Given the description of an element on the screen output the (x, y) to click on. 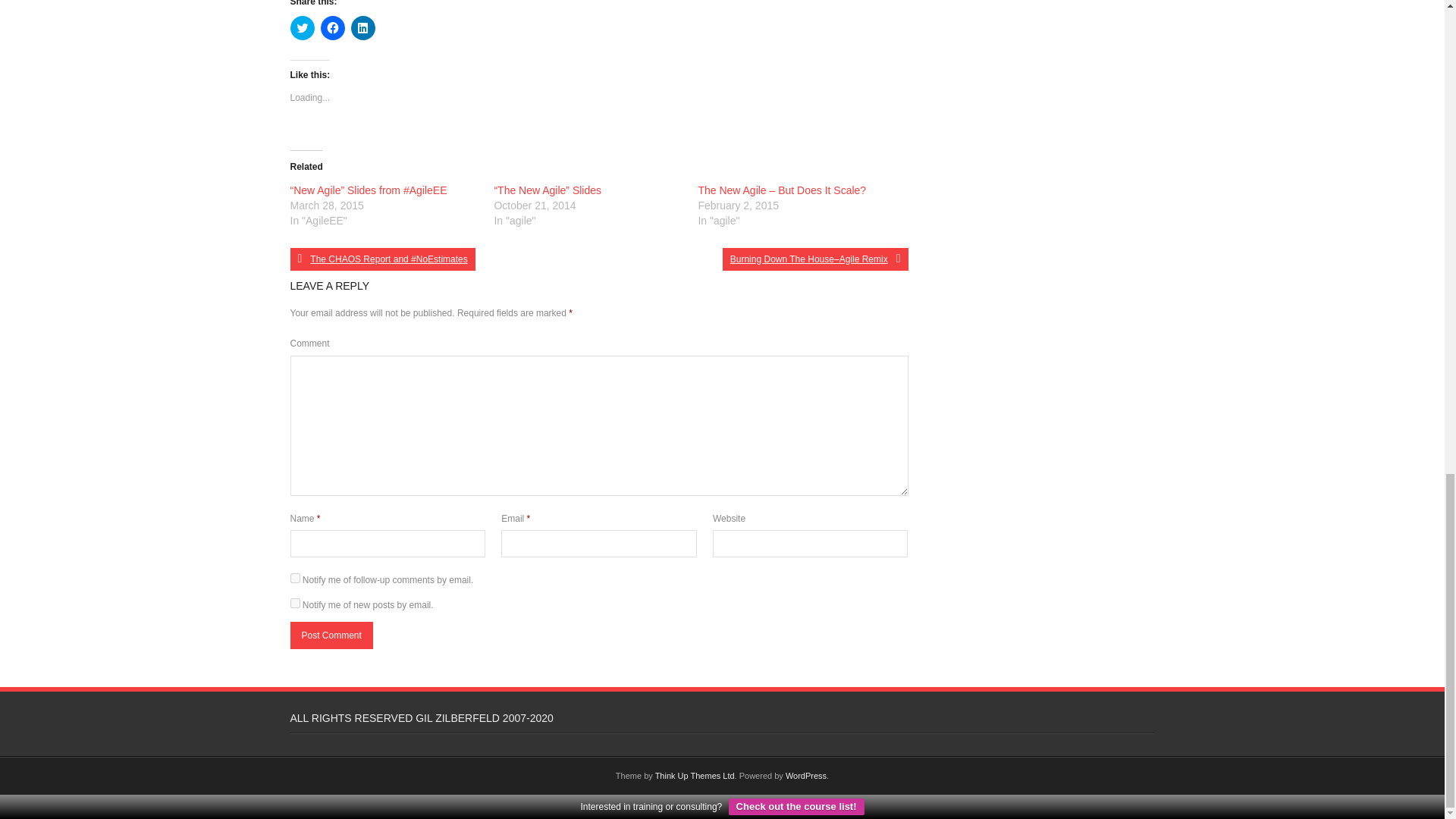
subscribe (294, 603)
subscribe (294, 578)
Click to share on Twitter (301, 27)
Click to share on LinkedIn (362, 27)
Click to share on Facebook (331, 27)
Post Comment (330, 635)
